Given the description of an element on the screen output the (x, y) to click on. 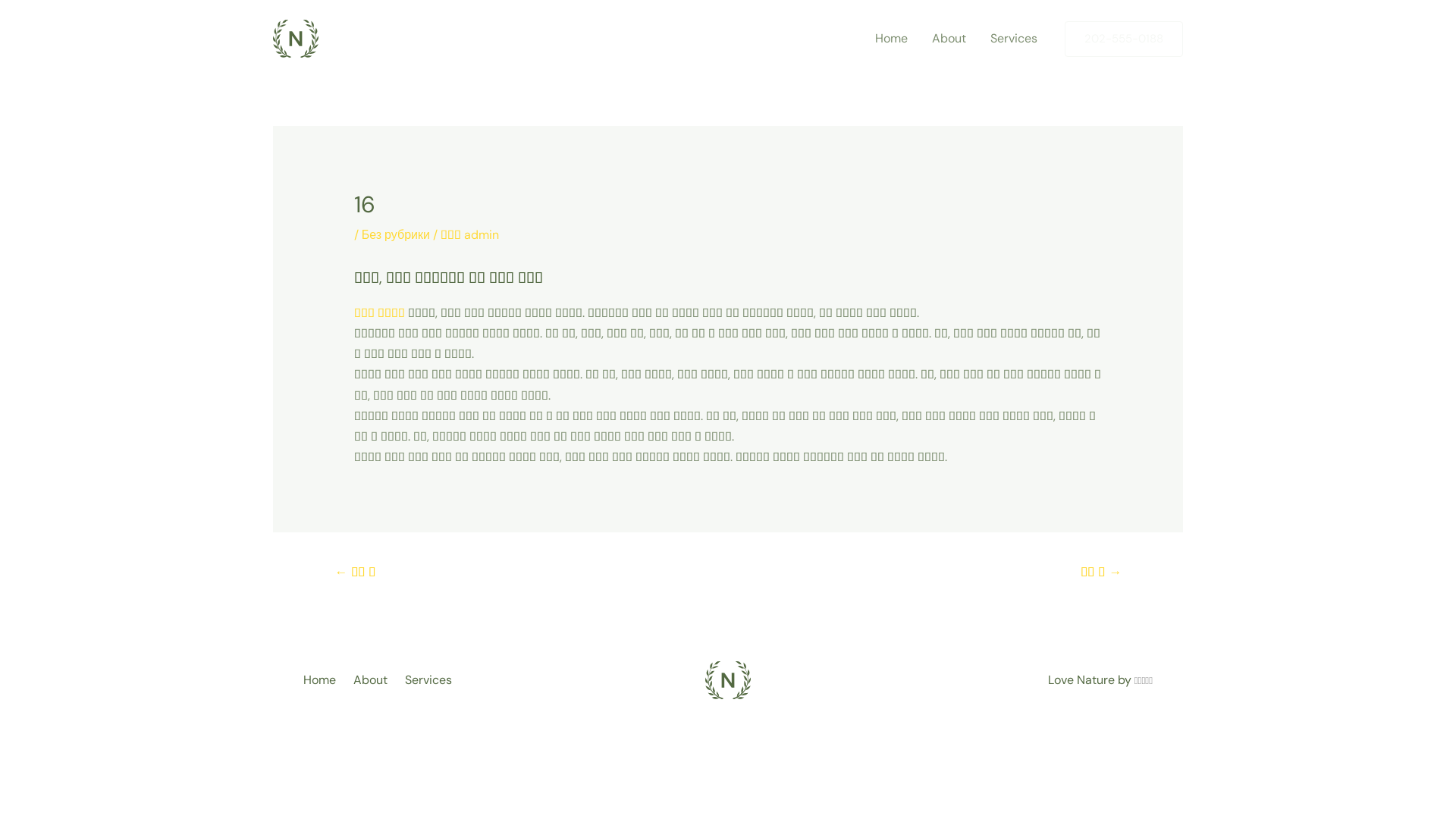
Home Element type: text (325, 679)
About Element type: text (948, 38)
admin Element type: text (481, 234)
Services Element type: text (1013, 38)
202-555-0188 Element type: text (1123, 38)
Services Element type: text (430, 679)
About Element type: text (372, 679)
Home Element type: text (890, 38)
